Given the description of an element on the screen output the (x, y) to click on. 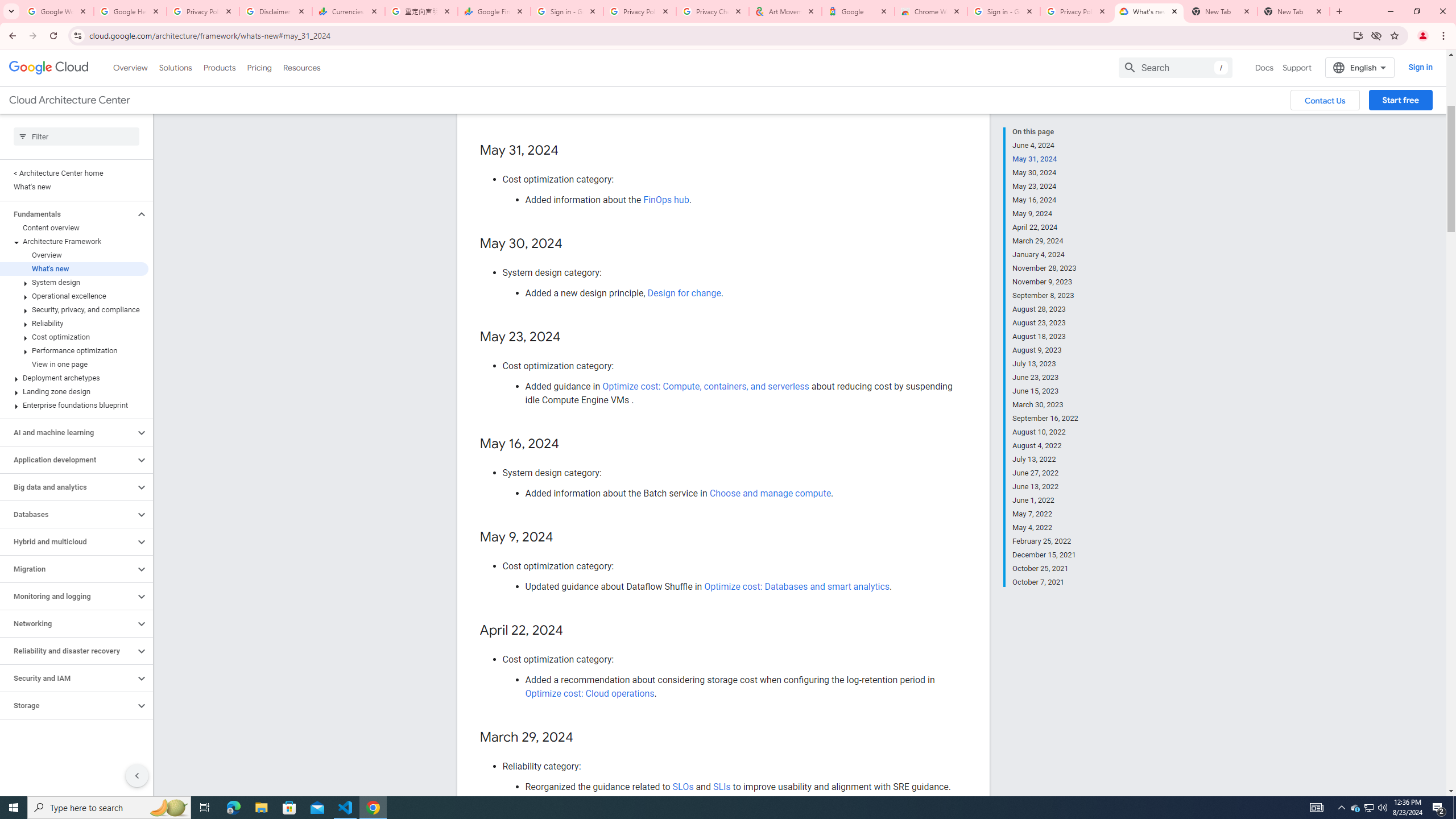
Install Google Cloud (1358, 35)
SLOs (683, 786)
Sign in - Google Accounts (566, 11)
August 4, 2022 (1044, 445)
Search (1174, 67)
Solutions (175, 67)
Performance optimization (74, 350)
November 9, 2023 (1044, 282)
Storage (67, 705)
Start free (1400, 100)
May 30, 2024 (1044, 172)
